Given the description of an element on the screen output the (x, y) to click on. 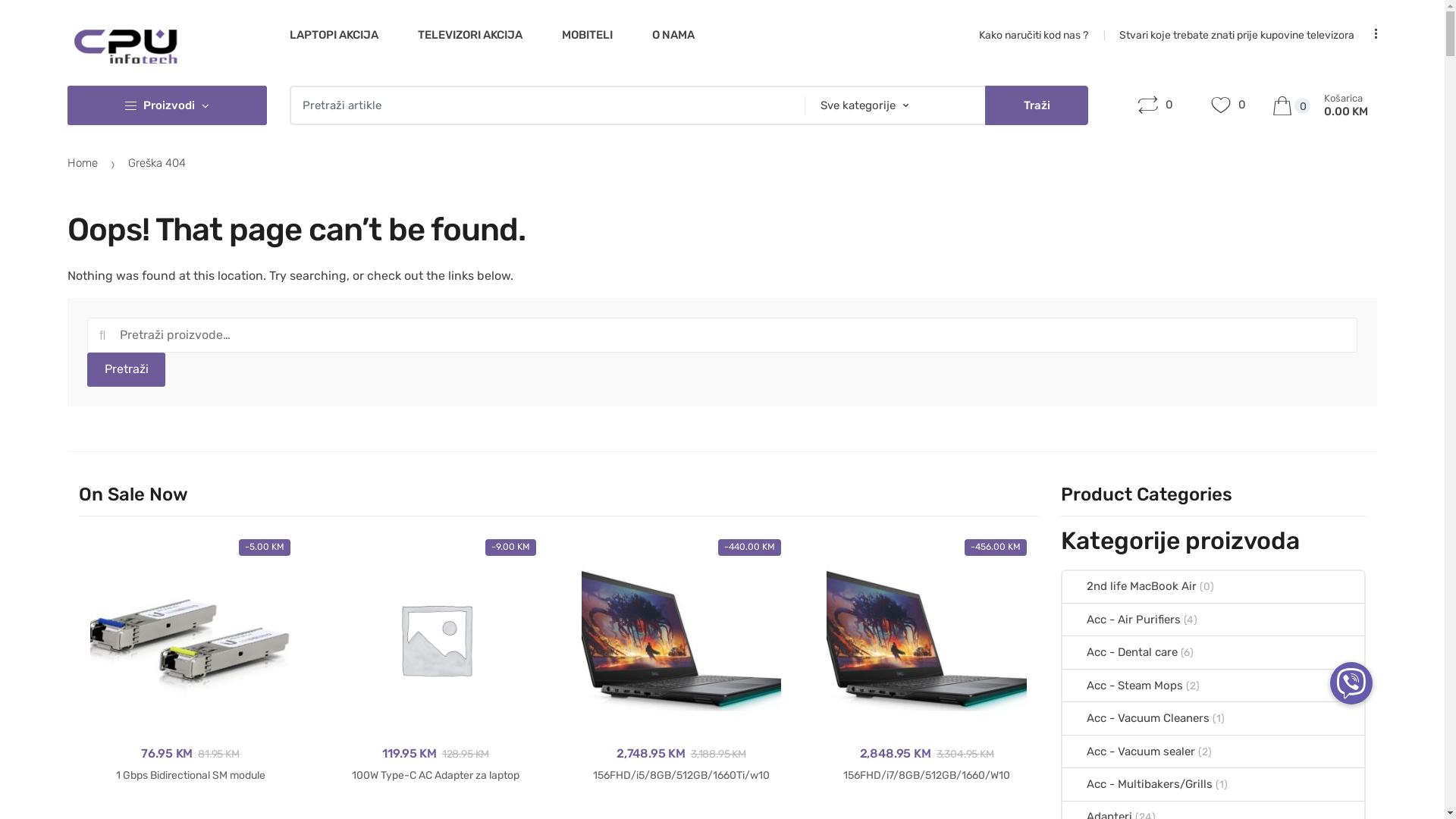
Home Element type: text (82, 162)
Acc - Steam Mops Element type: text (1122, 685)
Stvari koje trebate znati prije kupovine televizora Element type: text (1236, 34)
0 Element type: text (1228, 105)
Acc - Vacuum sealer Element type: text (1128, 751)
Acc - Dental care Element type: text (1119, 652)
LAPTOPI AKCIJA Element type: text (333, 34)
O NAMA Element type: text (673, 34)
MOBITELI Element type: text (586, 34)
Acc - Multibakers/Grills Element type: text (1137, 784)
0 Element type: text (1155, 105)
TELEVIZORI AKCIJA Element type: text (469, 34)
2nd life MacBook Air Element type: text (1129, 586)
-5.00 KM
76.95 KM 81.95 KM
1 Gbps Bidirectional SM module Element type: text (190, 660)
Acc - Vacuum Cleaners Element type: text (1135, 718)
... Element type: text (1368, 34)
Proizvodi Element type: text (166, 105)
Acc - Air Purifiers Element type: text (1121, 619)
